Given the description of an element on the screen output the (x, y) to click on. 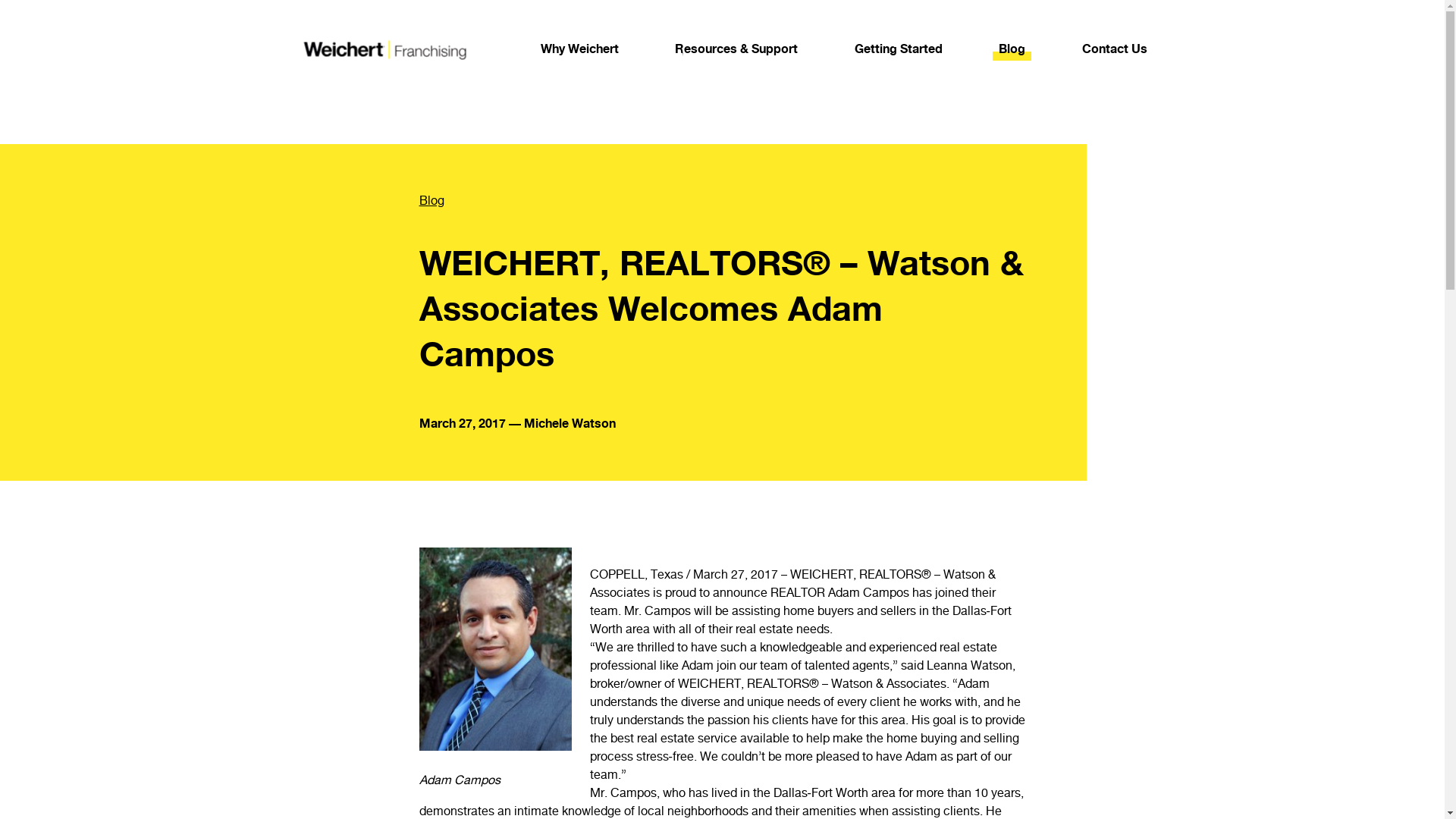
Getting Started (897, 48)
Home (382, 49)
Why Weichert (578, 48)
Contact Us (1114, 48)
Blog (1011, 48)
Blog (687, 200)
